Given the description of an element on the screen output the (x, y) to click on. 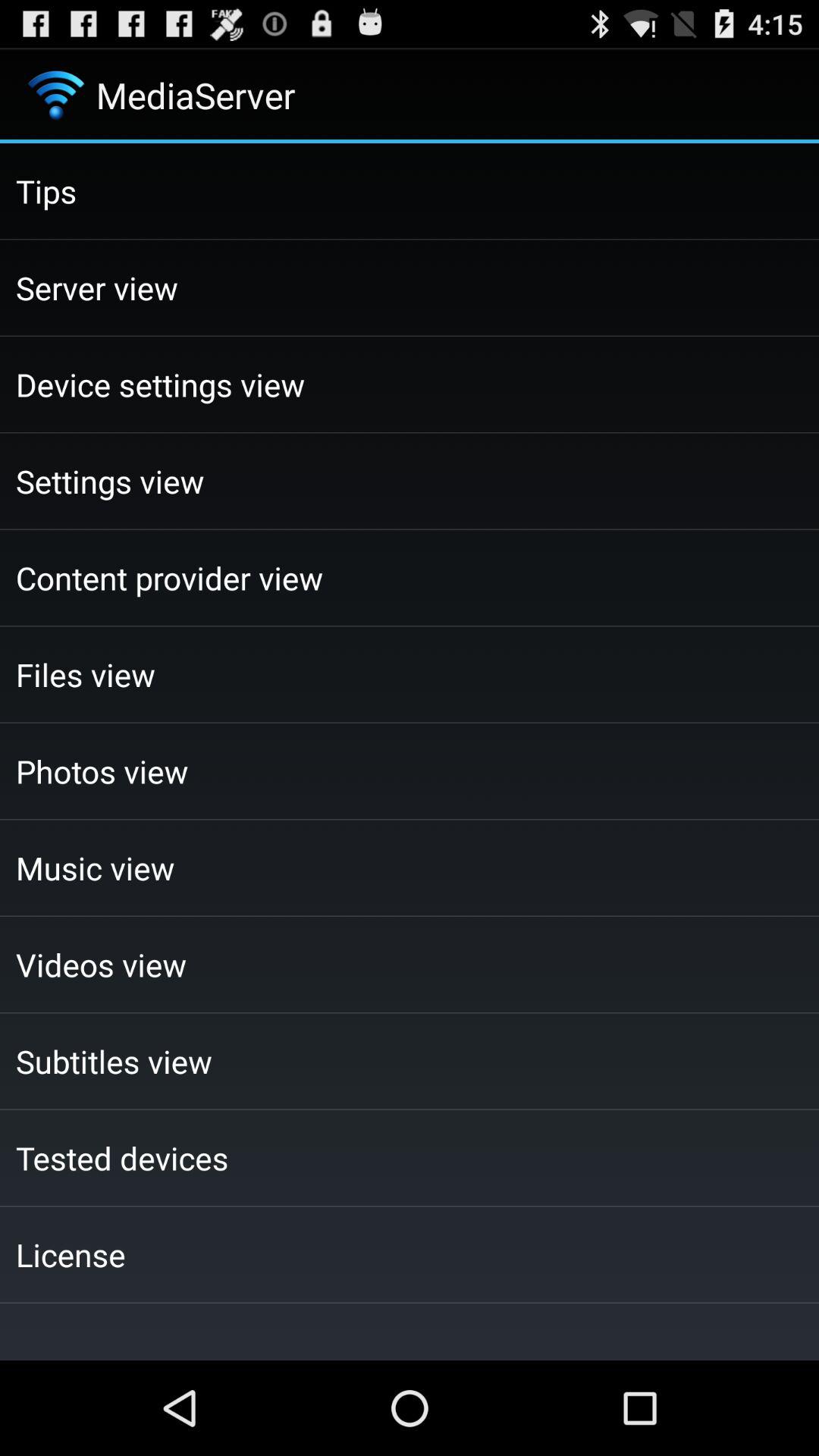
flip to the tips (409, 190)
